Given the description of an element on the screen output the (x, y) to click on. 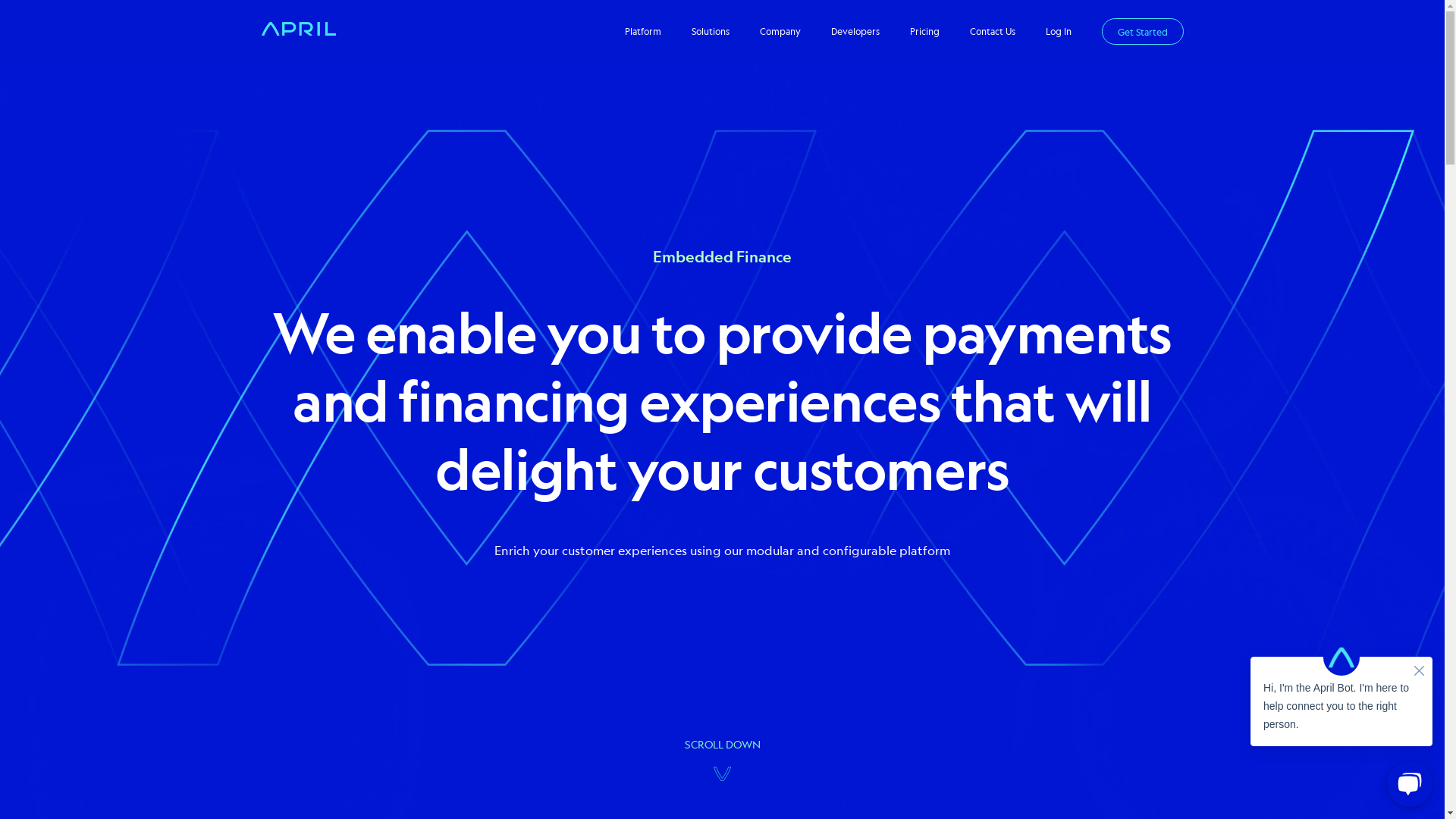
Get Started Element type: text (1142, 31)
Contact Us Element type: text (991, 31)
Pricing Element type: text (924, 31)
Log In Element type: text (1057, 31)
Company Element type: text (779, 31)
Platform Element type: text (642, 31)
SCROLL DOWN Element type: text (722, 758)
Developers Element type: text (855, 31)
Solutions Element type: text (710, 31)
